Given the description of an element on the screen output the (x, y) to click on. 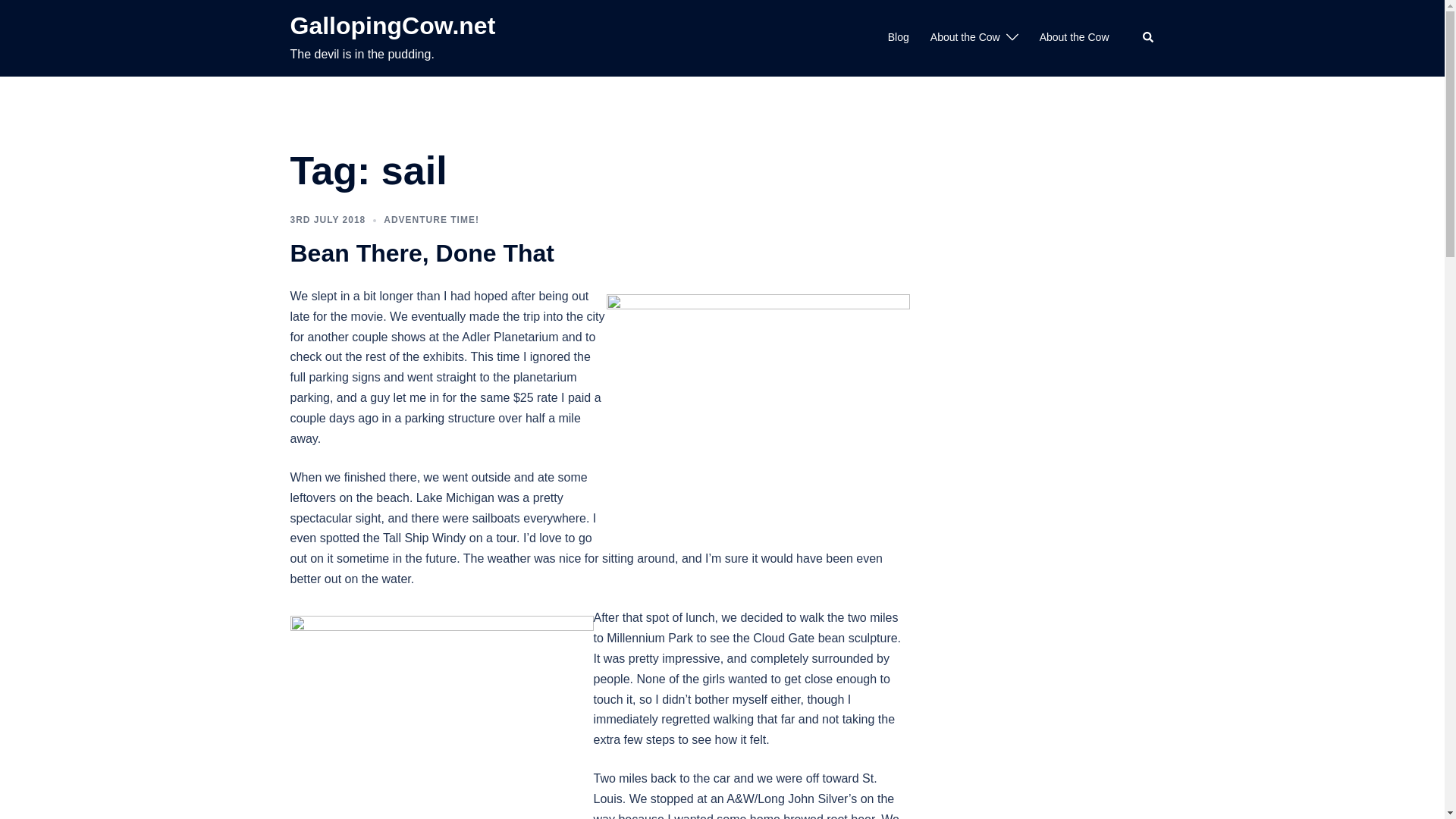
ADVENTURE TIME! (431, 219)
Bean There, Done That (421, 252)
Search (1147, 37)
Blog (898, 37)
3RD JULY 2018 (327, 219)
About the Cow (1074, 37)
GallopingCow.net (392, 25)
About the Cow (965, 37)
